Given the description of an element on the screen output the (x, y) to click on. 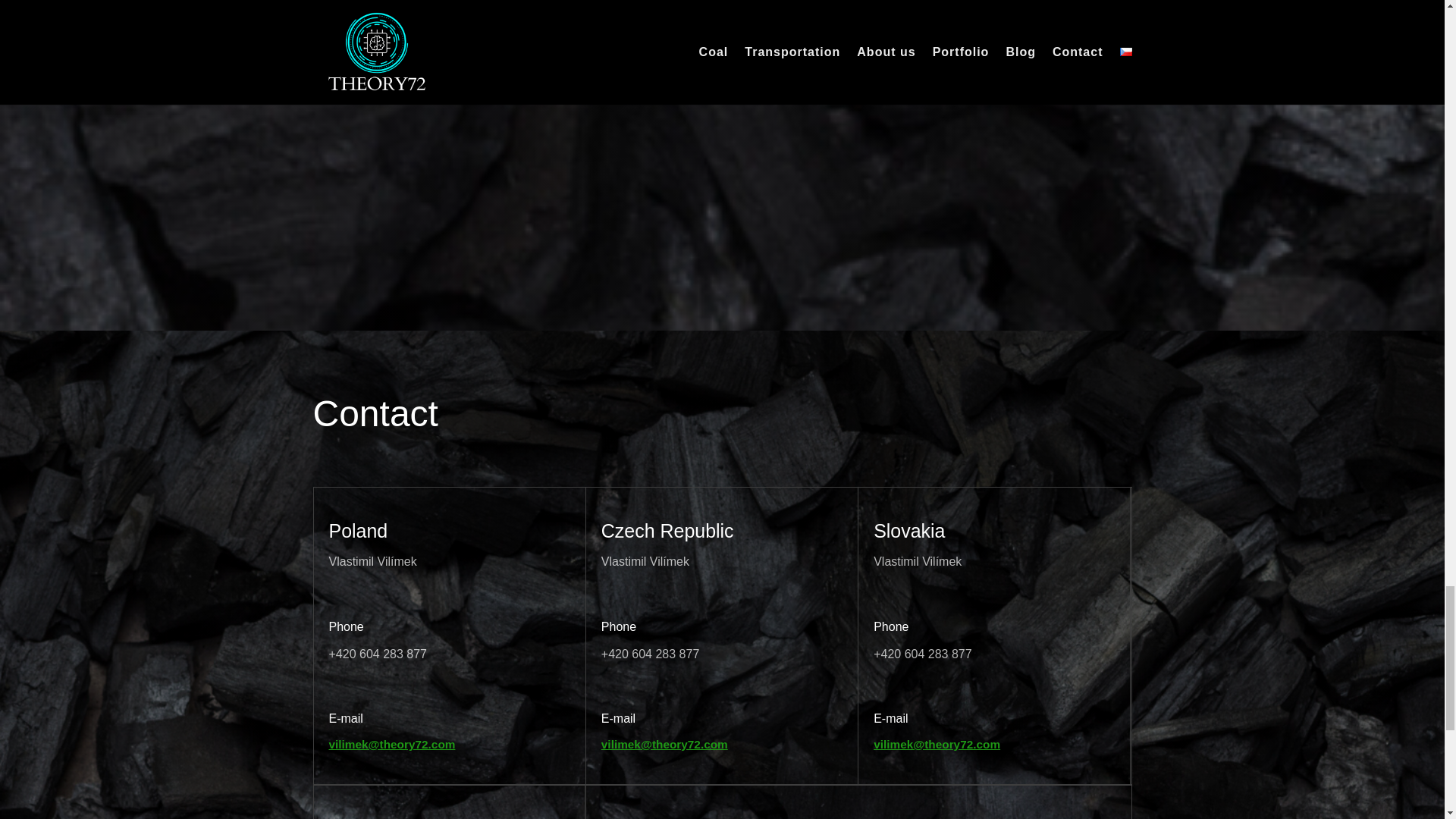
Vlastimil Vilimek (783, 16)
